Given the description of an element on the screen output the (x, y) to click on. 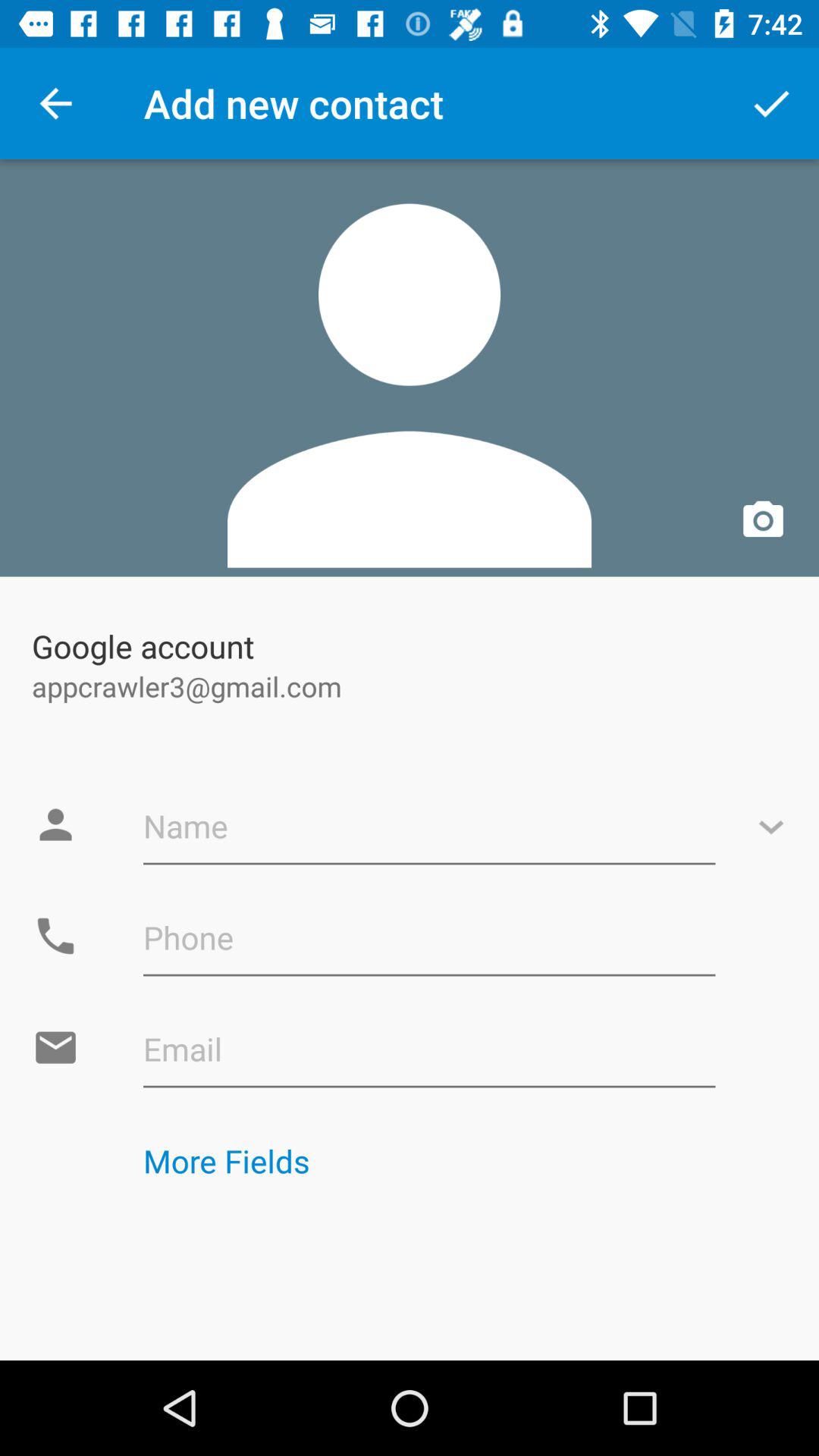
click the app next to add new contact app (771, 103)
